Given the description of an element on the screen output the (x, y) to click on. 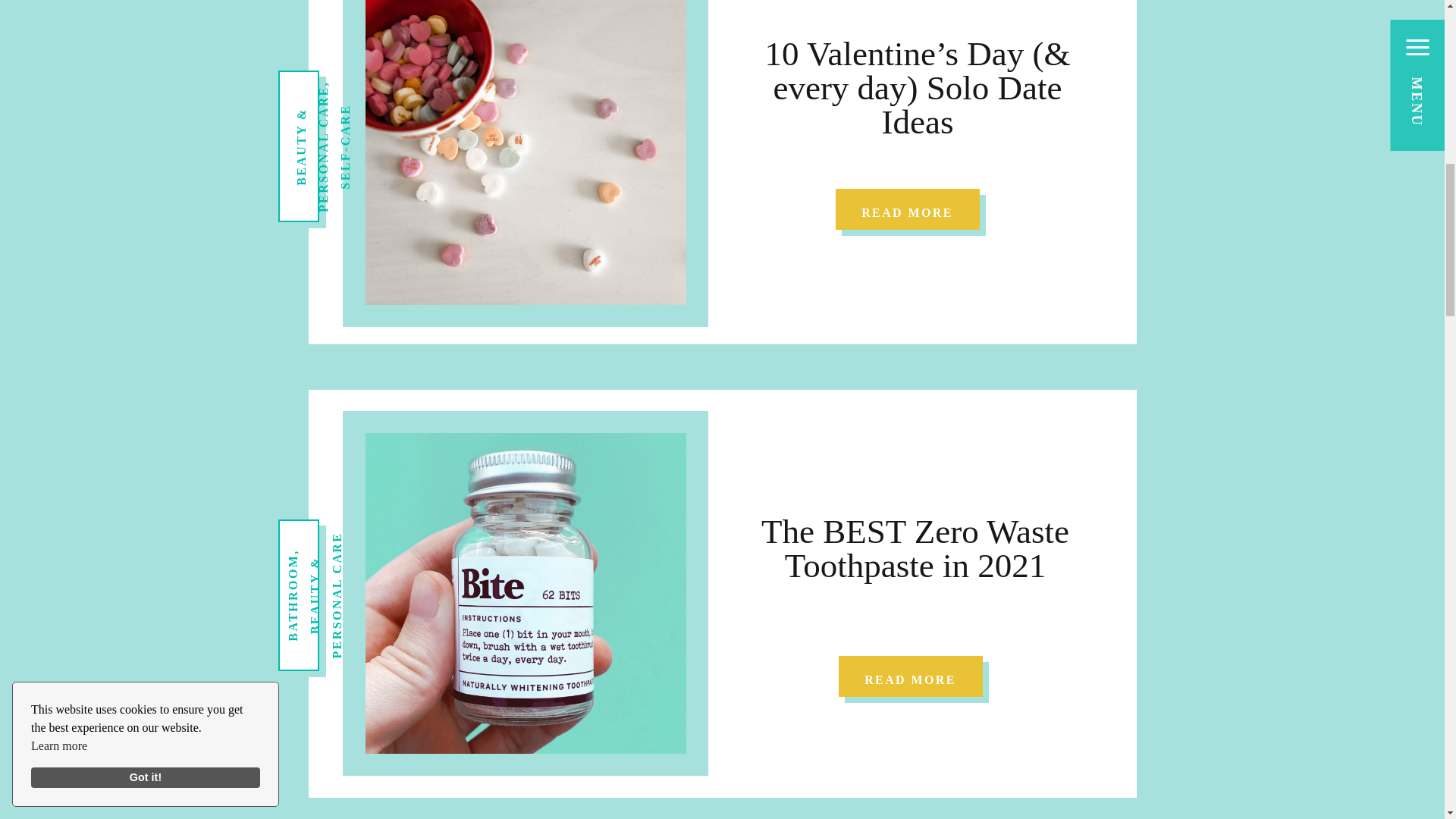
SELF-CARE (380, 110)
BATHROOM (328, 560)
READ MORE (910, 676)
The BEST Zero Waste Toothpaste in 2021 (910, 676)
The BEST Zero Waste Toothpaste in 2021 (914, 548)
READ MORE (907, 209)
